Given the description of an element on the screen output the (x, y) to click on. 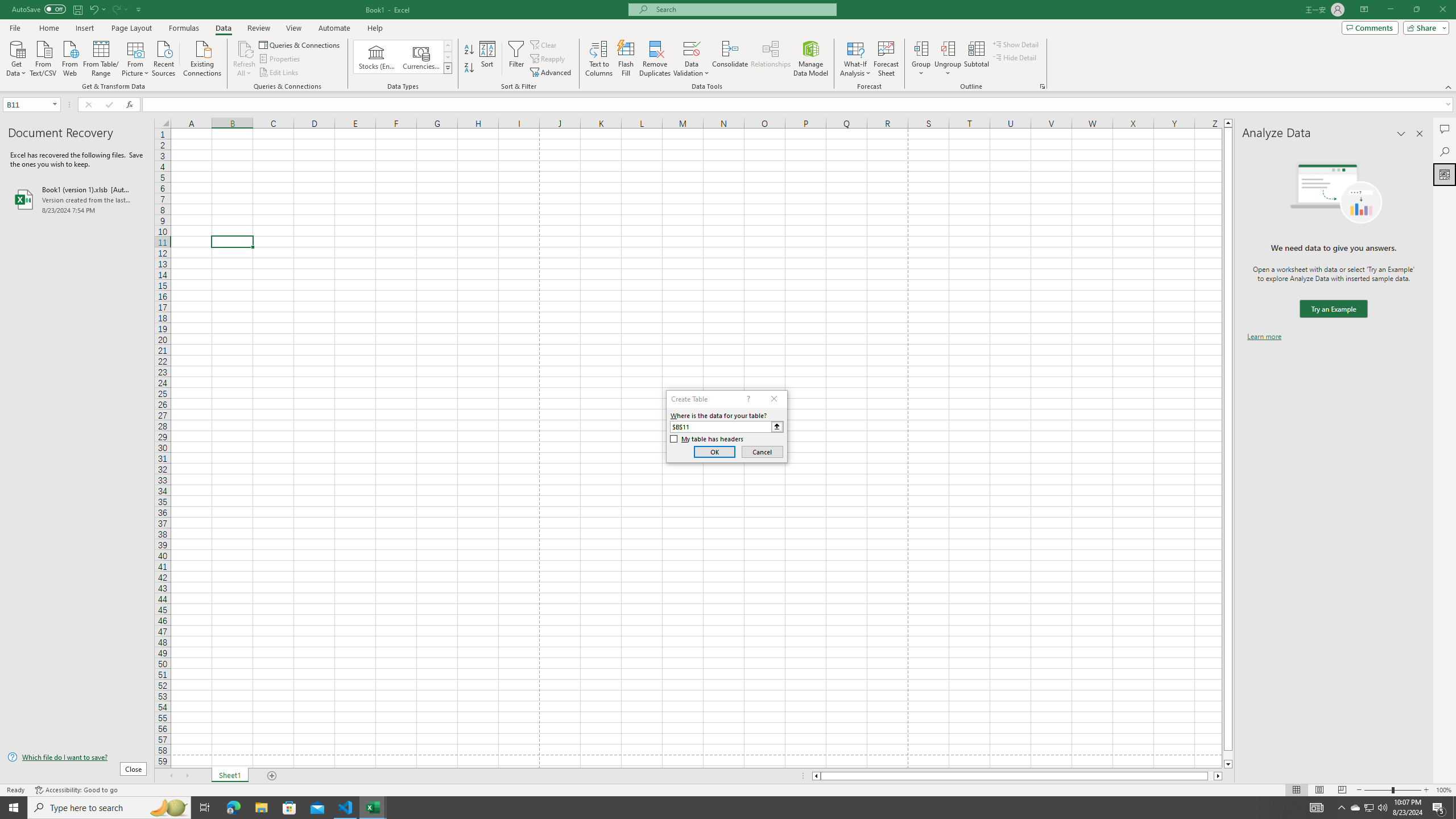
Relationships (770, 58)
Hide Detail (1014, 56)
Filter (515, 58)
Group and Outline Settings (1042, 85)
Learn more (1264, 336)
